Given the description of an element on the screen output the (x, y) to click on. 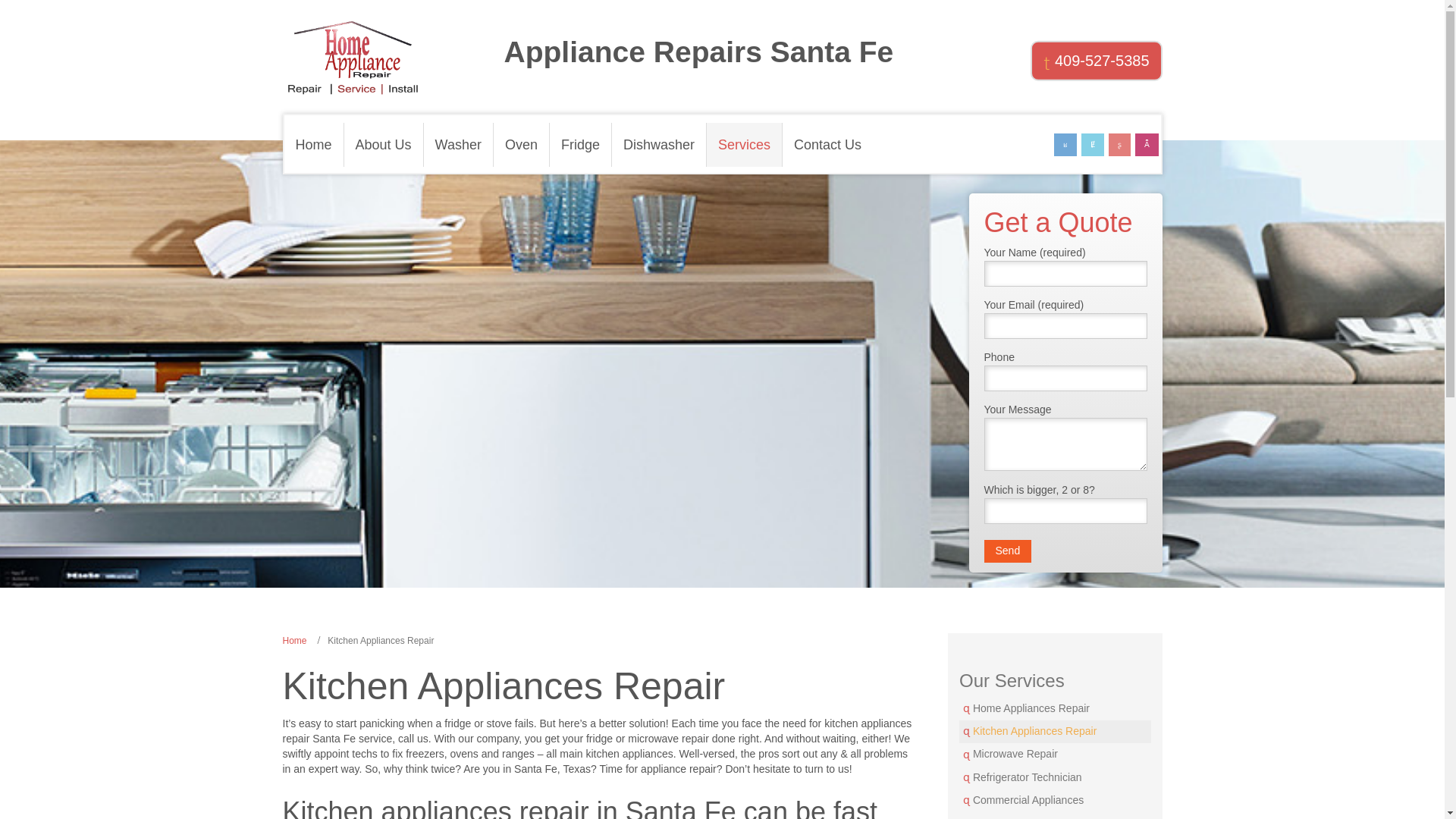
Home (313, 144)
Home (293, 640)
Oven (521, 144)
Contact Us (1055, 815)
Kitchen Appliances Repair (1055, 731)
Home Appliances Repair (1055, 708)
Send (1008, 550)
Refrigerator Technician (1055, 777)
About Us (383, 144)
Microwave Repair (1055, 753)
409-527-5385 (1095, 60)
Dishwasher (658, 144)
Contact Us (827, 144)
Commercial Appliances (1055, 800)
Send (1008, 550)
